Given the description of an element on the screen output the (x, y) to click on. 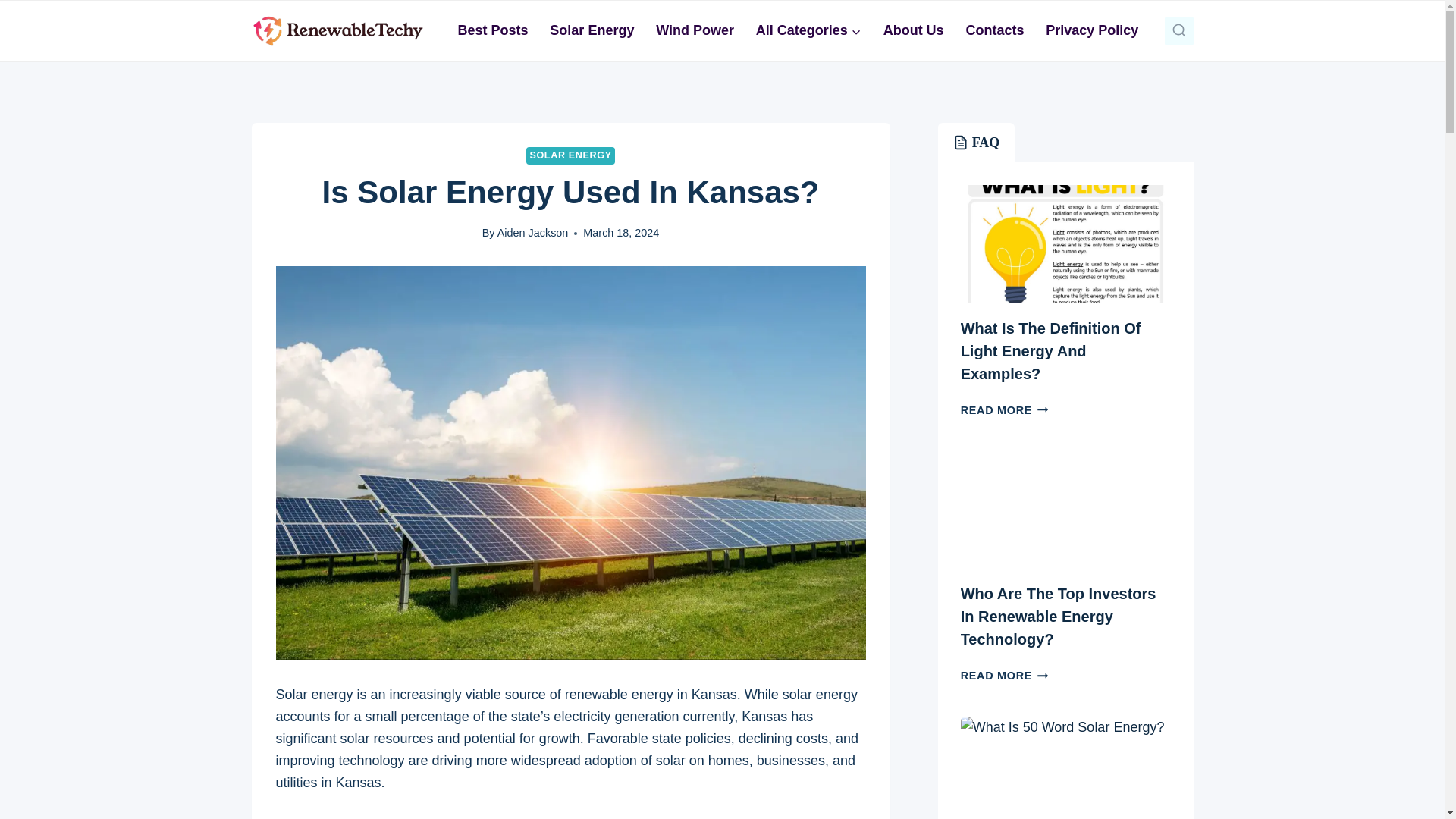
Privacy Policy (1092, 30)
Contacts (995, 30)
About Us (913, 30)
Best Posts (492, 30)
All Categories (808, 30)
Solar Energy (591, 30)
SOLAR ENERGY (569, 155)
Wind Power (695, 30)
Aiden Jackson (533, 232)
